Given the description of an element on the screen output the (x, y) to click on. 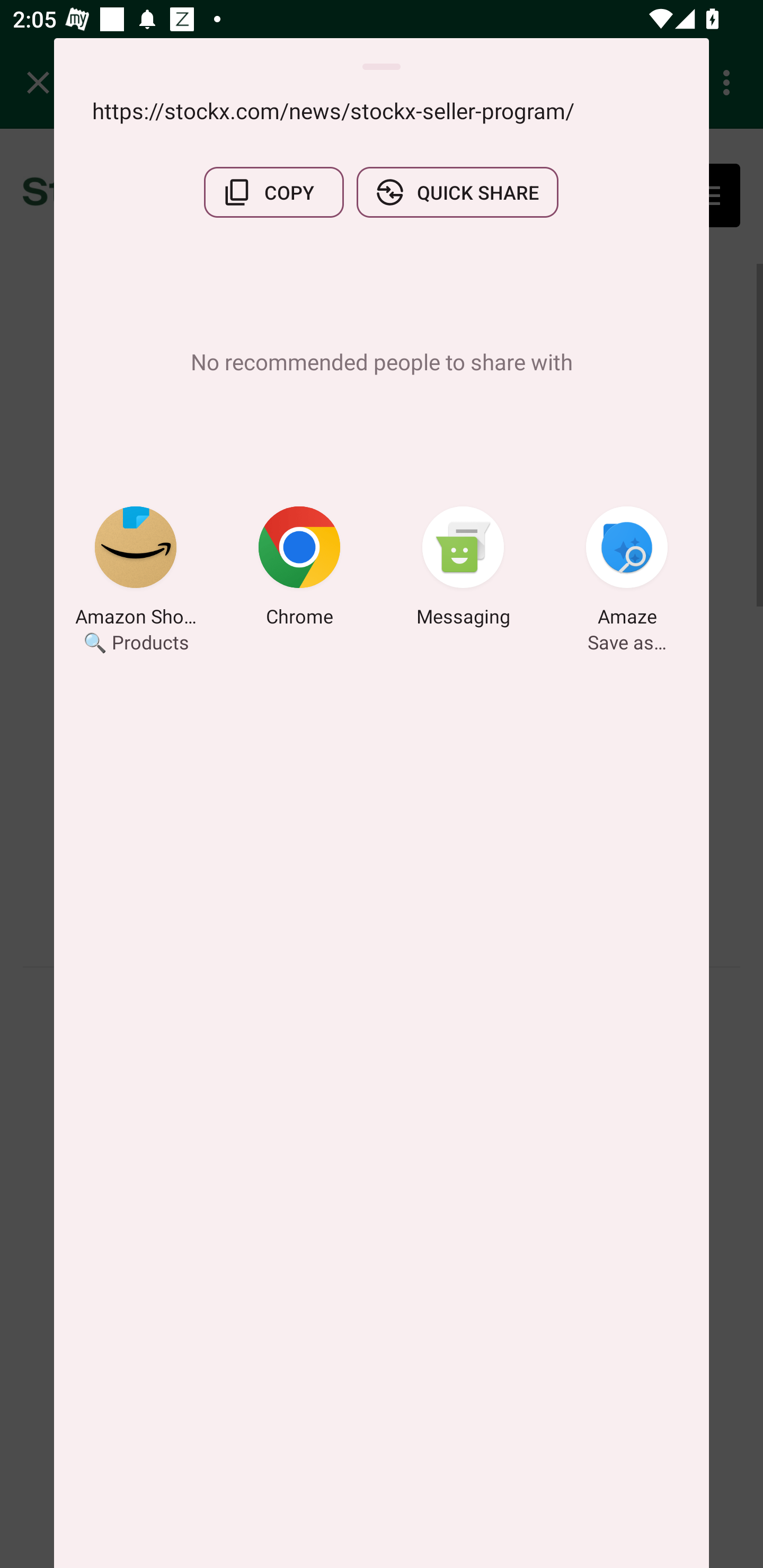
COPY (273, 191)
QUICK SHARE (457, 191)
Amazon Shopping 🔍 Products (135, 569)
Chrome (299, 569)
Messaging (463, 569)
Amaze Save as… (626, 569)
